Given the description of an element on the screen output the (x, y) to click on. 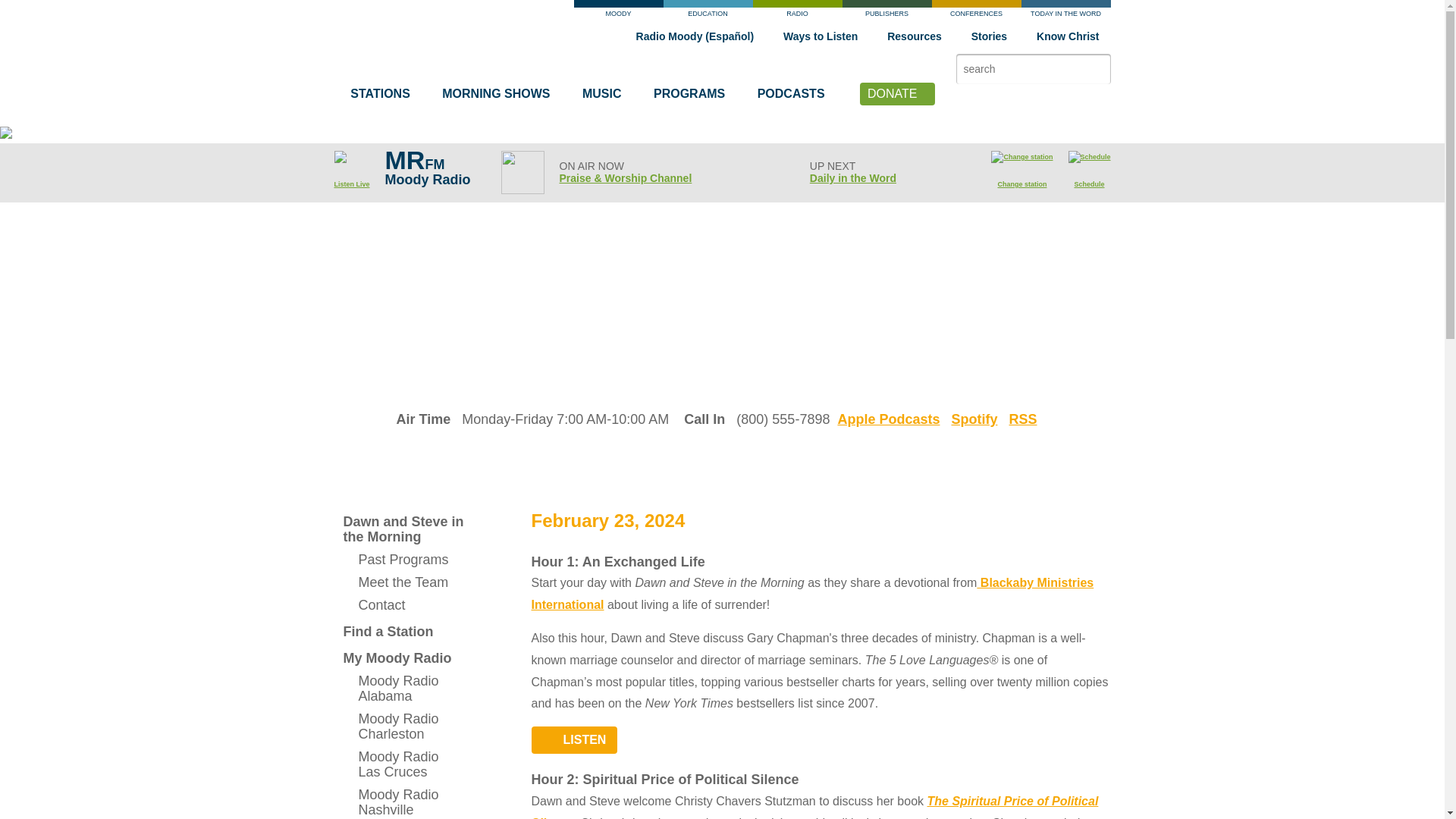
Past Programs (403, 558)
Spotify (973, 419)
MOODY (617, 11)
Stories (994, 36)
MUSIC (606, 97)
My Moody Radio (403, 658)
Moody Radio Charleston (403, 726)
RADIO (796, 11)
RSS (1022, 419)
TODAY IN THE WORD (1064, 11)
Contact (403, 604)
Daily in the Word (852, 177)
PROGRAMS (693, 97)
Meet the Team (403, 581)
Know Christ (1072, 36)
